Given the description of an element on the screen output the (x, y) to click on. 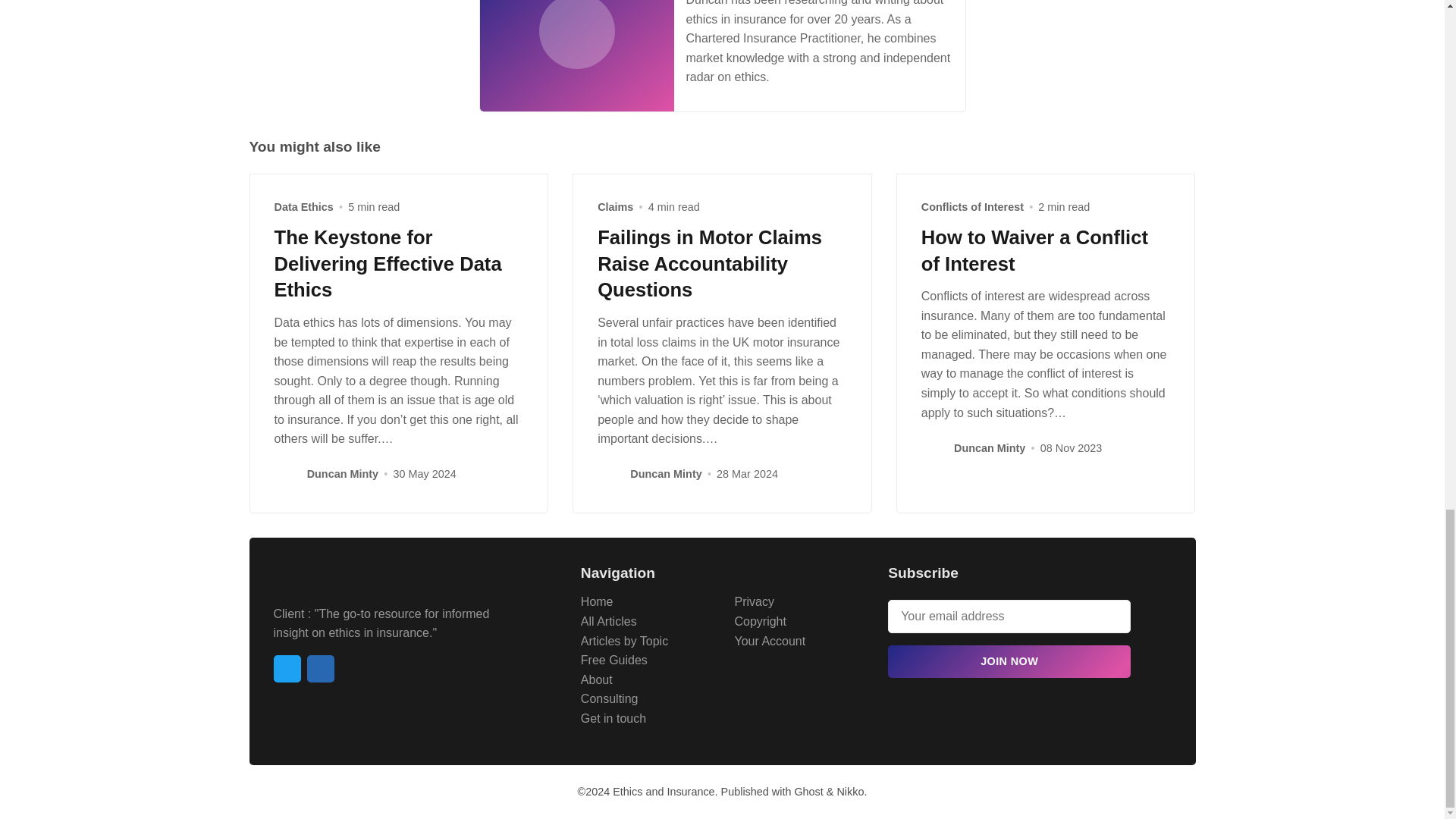
Linkedin (319, 668)
Twitter (286, 668)
